Given the description of an element on the screen output the (x, y) to click on. 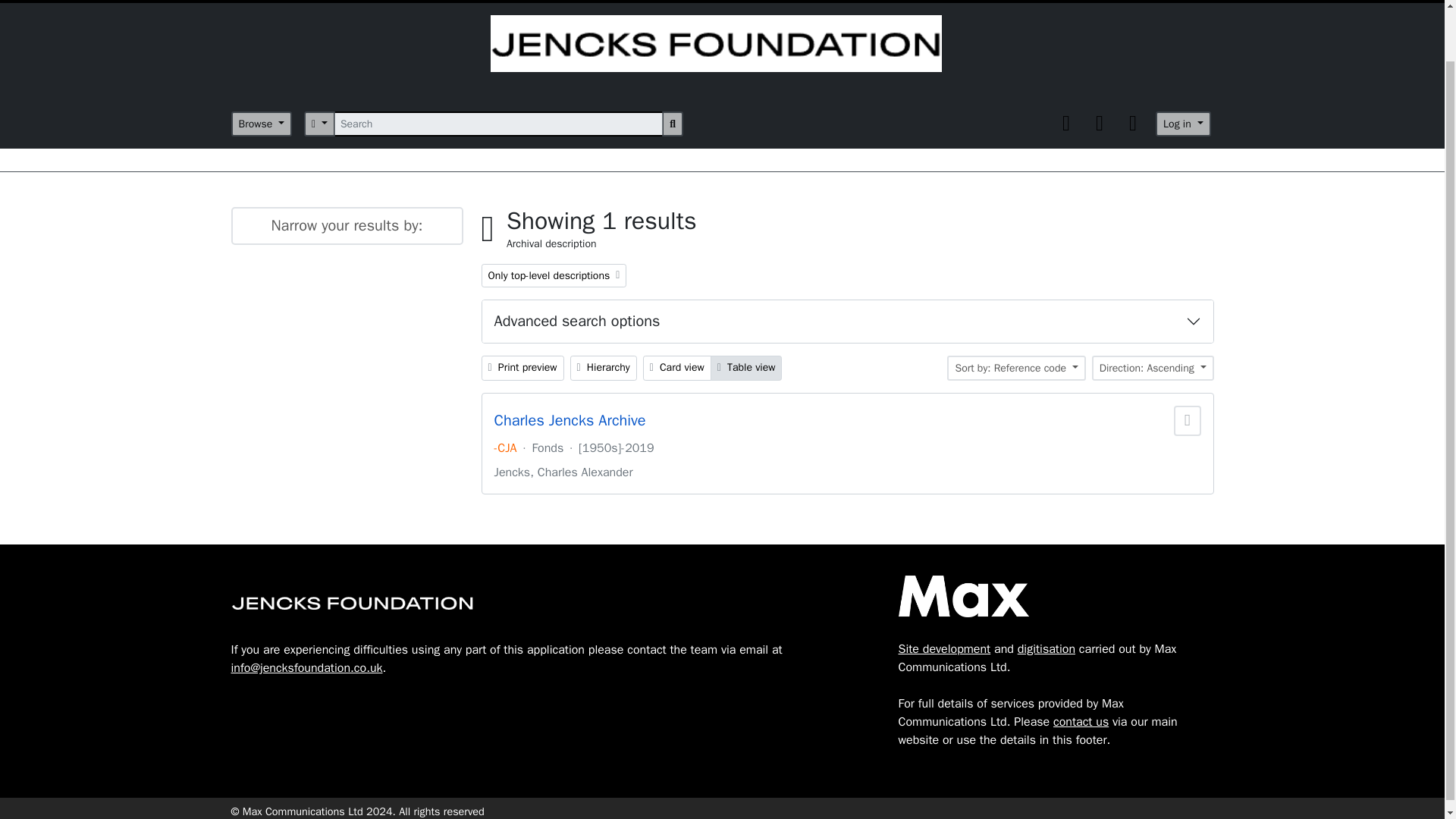
Advanced search options (846, 321)
Language (1099, 123)
Clipboard (1066, 123)
Quick links (553, 275)
Language (1133, 123)
Search options (1099, 123)
Quick links (319, 123)
Clipboard (1133, 123)
Home (1066, 123)
